Given the description of an element on the screen output the (x, y) to click on. 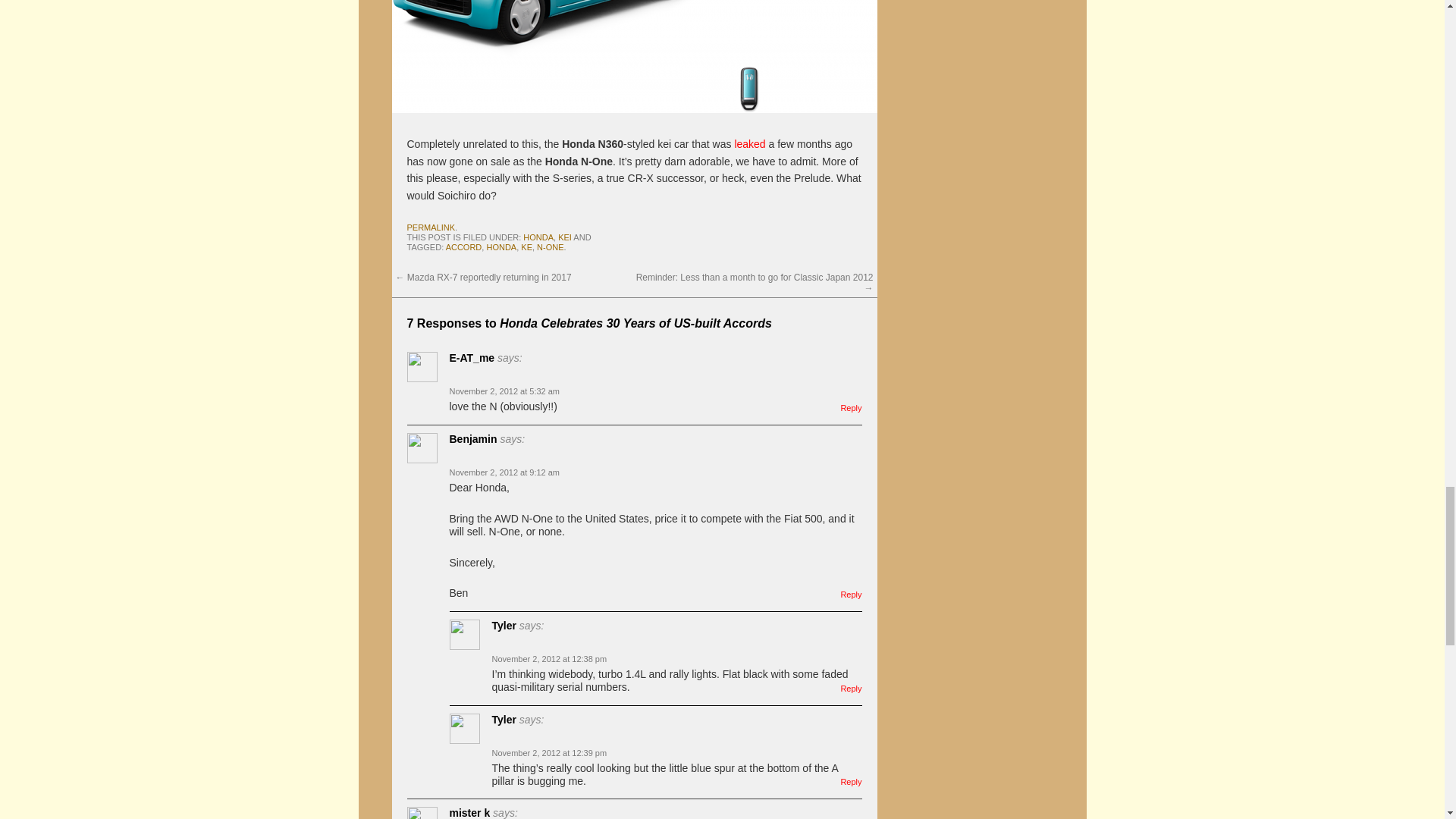
ACCORD (463, 246)
HONDA (501, 246)
leaked (749, 143)
Reply (850, 593)
Reply (850, 687)
November 2, 2012 at 5:32 am (503, 390)
Reply (850, 407)
Permalink to Honda Celebrates 30 Years of US-built Accords (430, 226)
Honda N-One 02 (633, 56)
PERMALINK (430, 226)
KEI (564, 236)
N-ONE (550, 246)
Reply (850, 781)
November 2, 2012 at 12:39 pm (549, 752)
KE (526, 246)
